Given the description of an element on the screen output the (x, y) to click on. 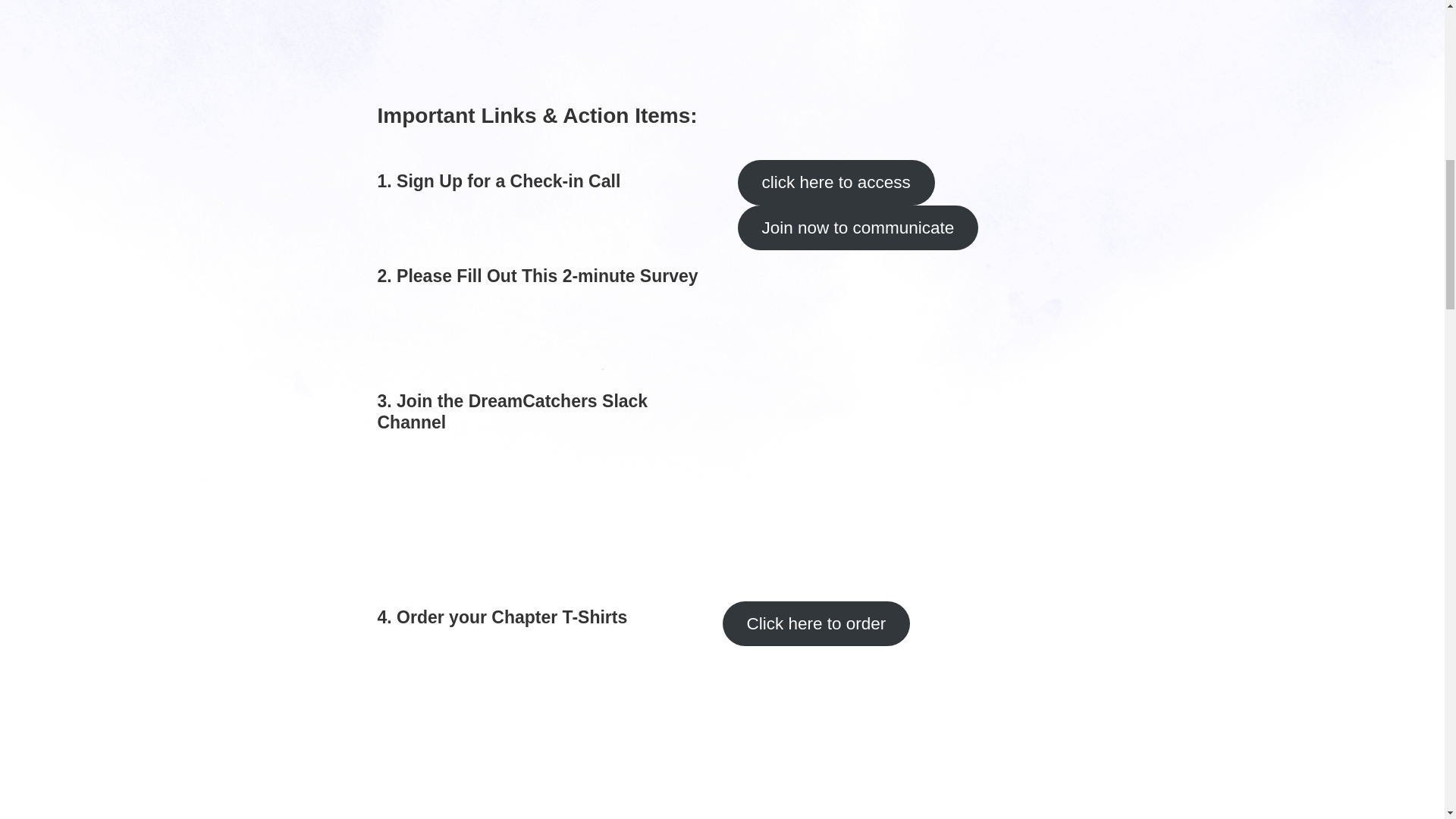
Join now to communicate (857, 227)
click here to access (835, 182)
Click here to order (816, 623)
